Given the description of an element on the screen output the (x, y) to click on. 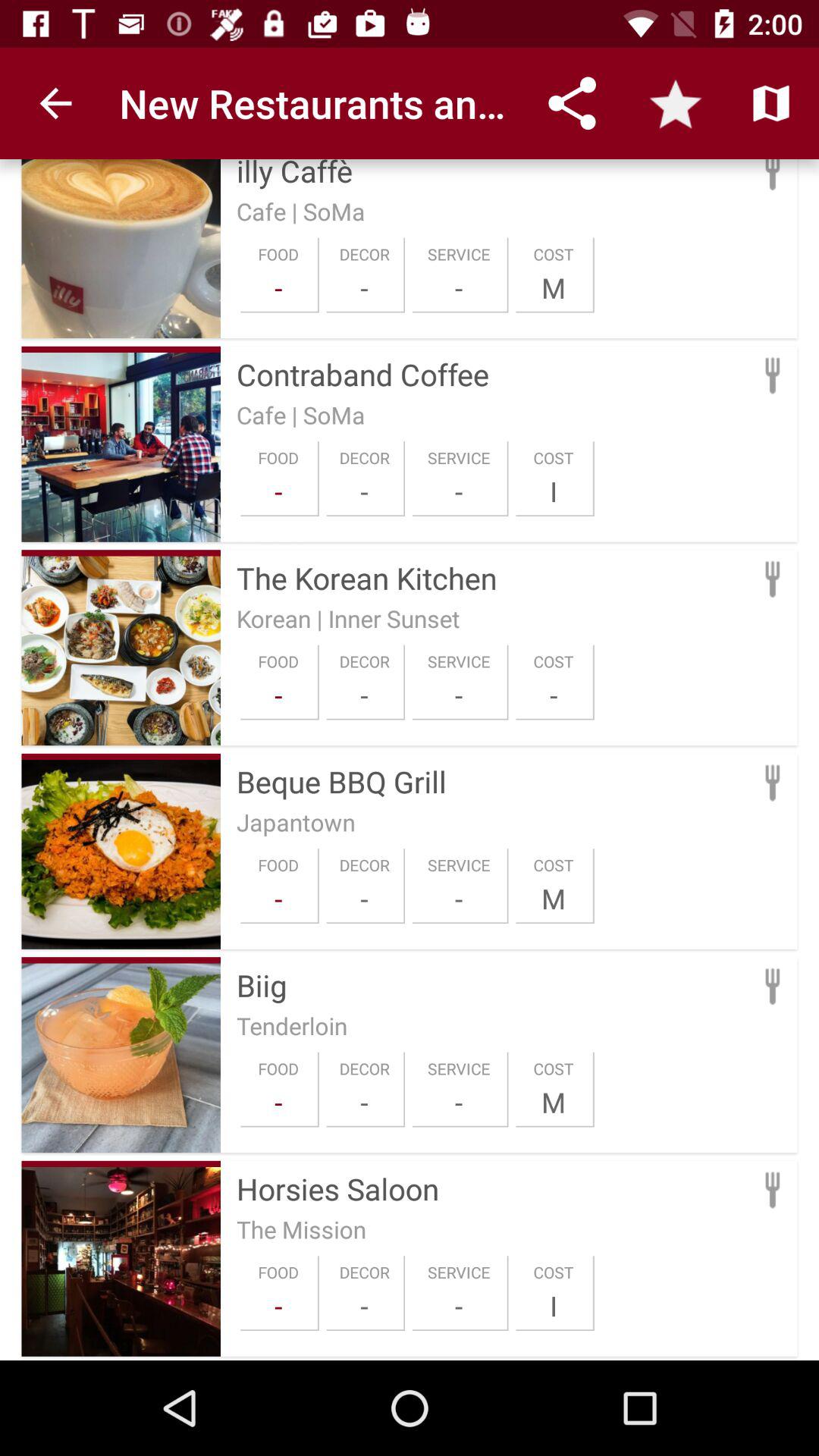
click - (364, 1305)
